Given the description of an element on the screen output the (x, y) to click on. 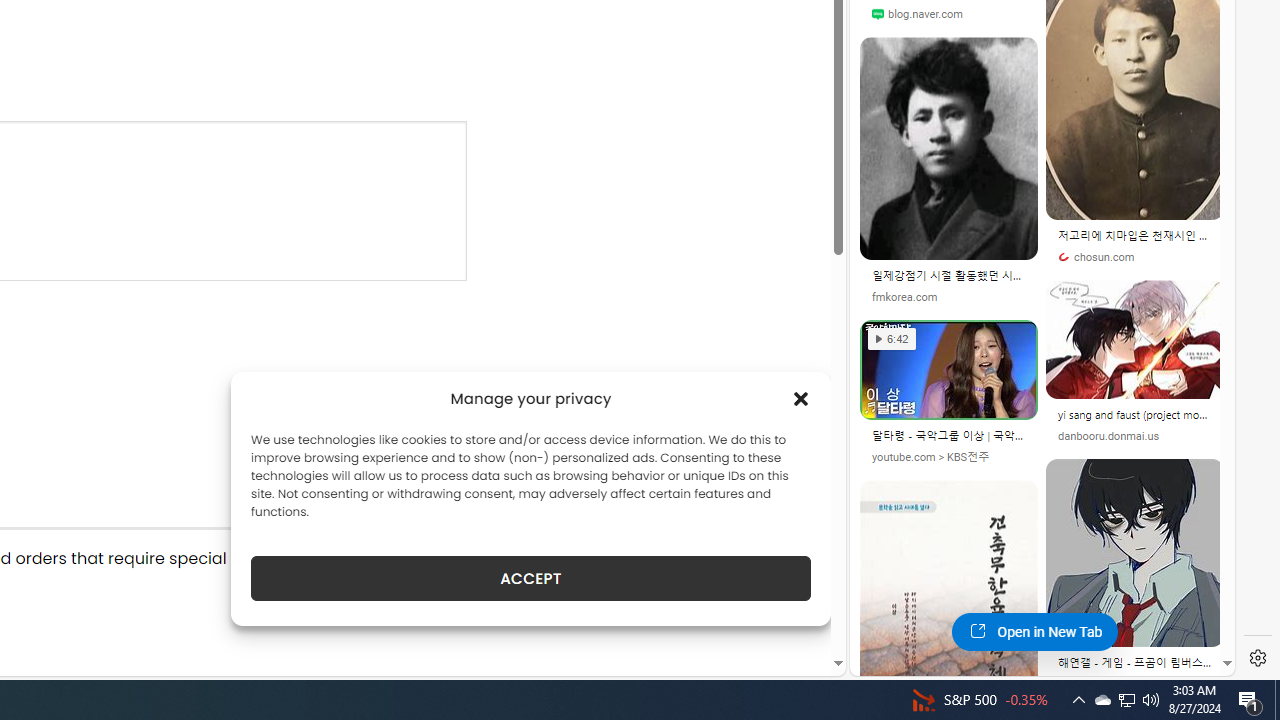
Class: cmplz-close (801, 398)
blog.naver.com (948, 13)
ACCEPT (530, 578)
fmkorea.com (904, 296)
6:42 (891, 338)
chosun.com (1135, 257)
